Given the description of an element on the screen output the (x, y) to click on. 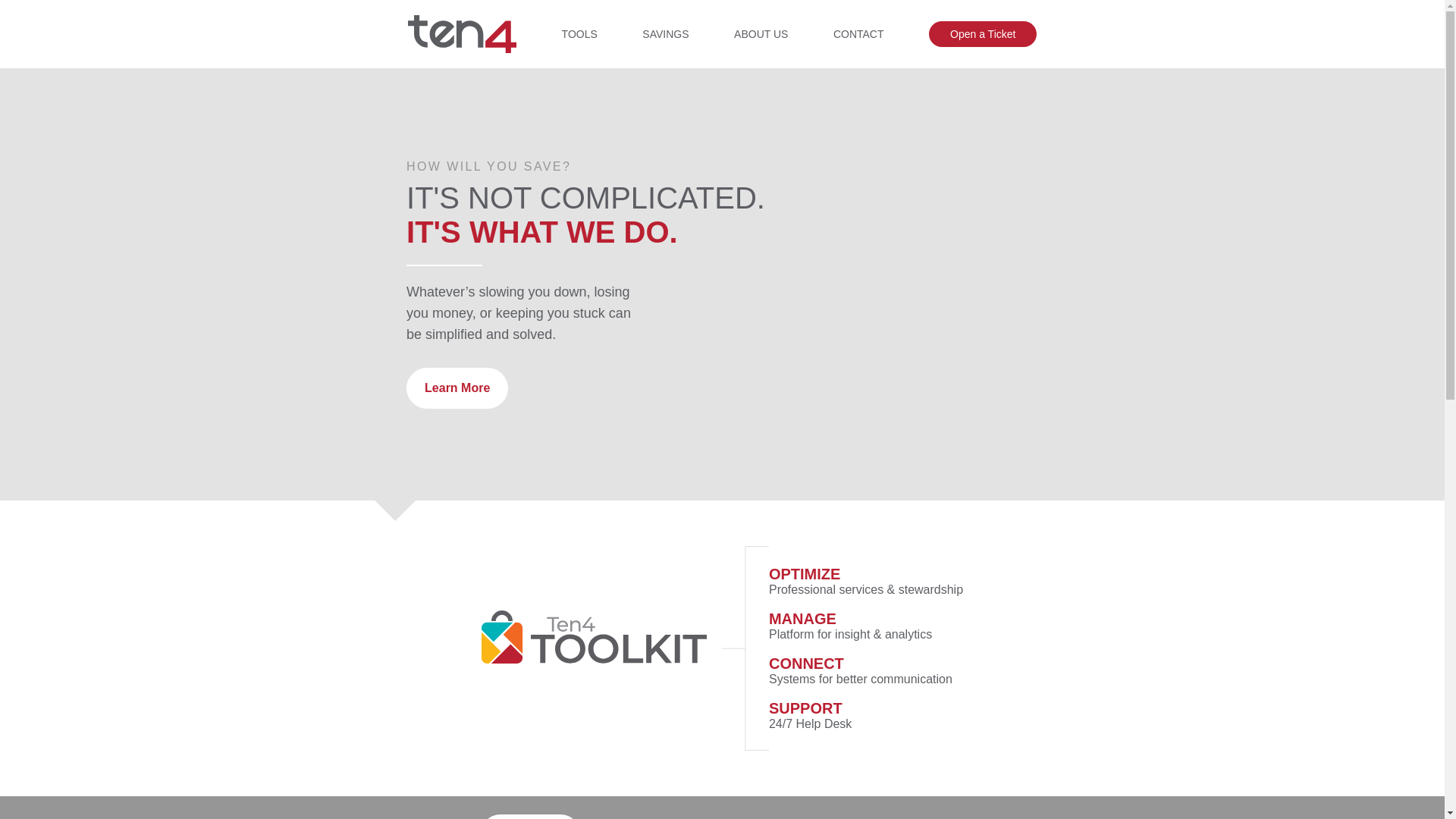
Learn More (457, 387)
Open a Ticket (982, 33)
SAVINGS (665, 33)
Ten4 Support Web Chat Launcher (1387, 777)
CONTACT (857, 33)
TOOLS (579, 33)
Start here (529, 816)
ABOUT US (760, 33)
